Given the description of an element on the screen output the (x, y) to click on. 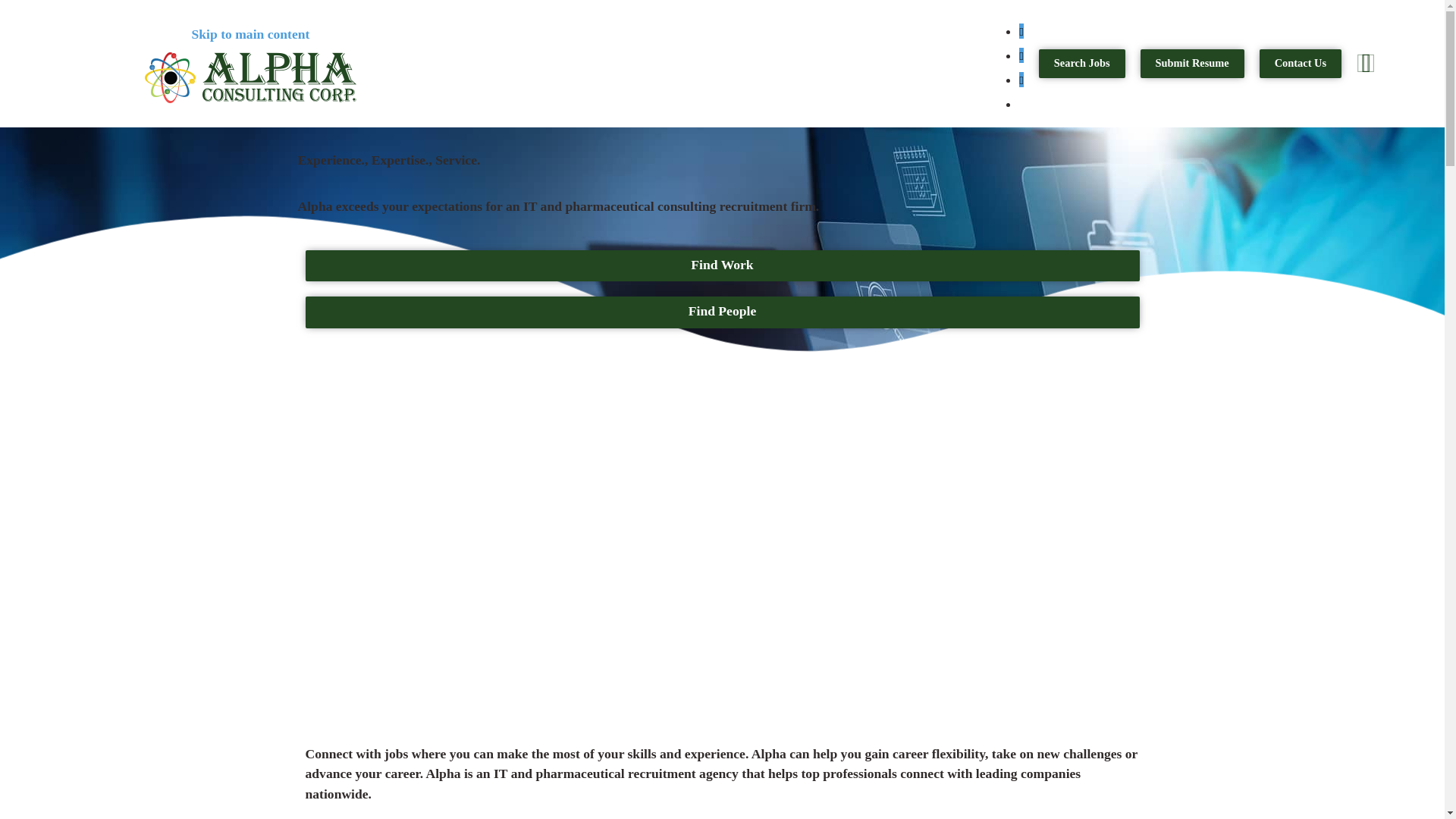
Submit Resume (1192, 63)
Search Jobs (1082, 63)
Contact Us (1299, 63)
Skip to main content (249, 33)
